Given the description of an element on the screen output the (x, y) to click on. 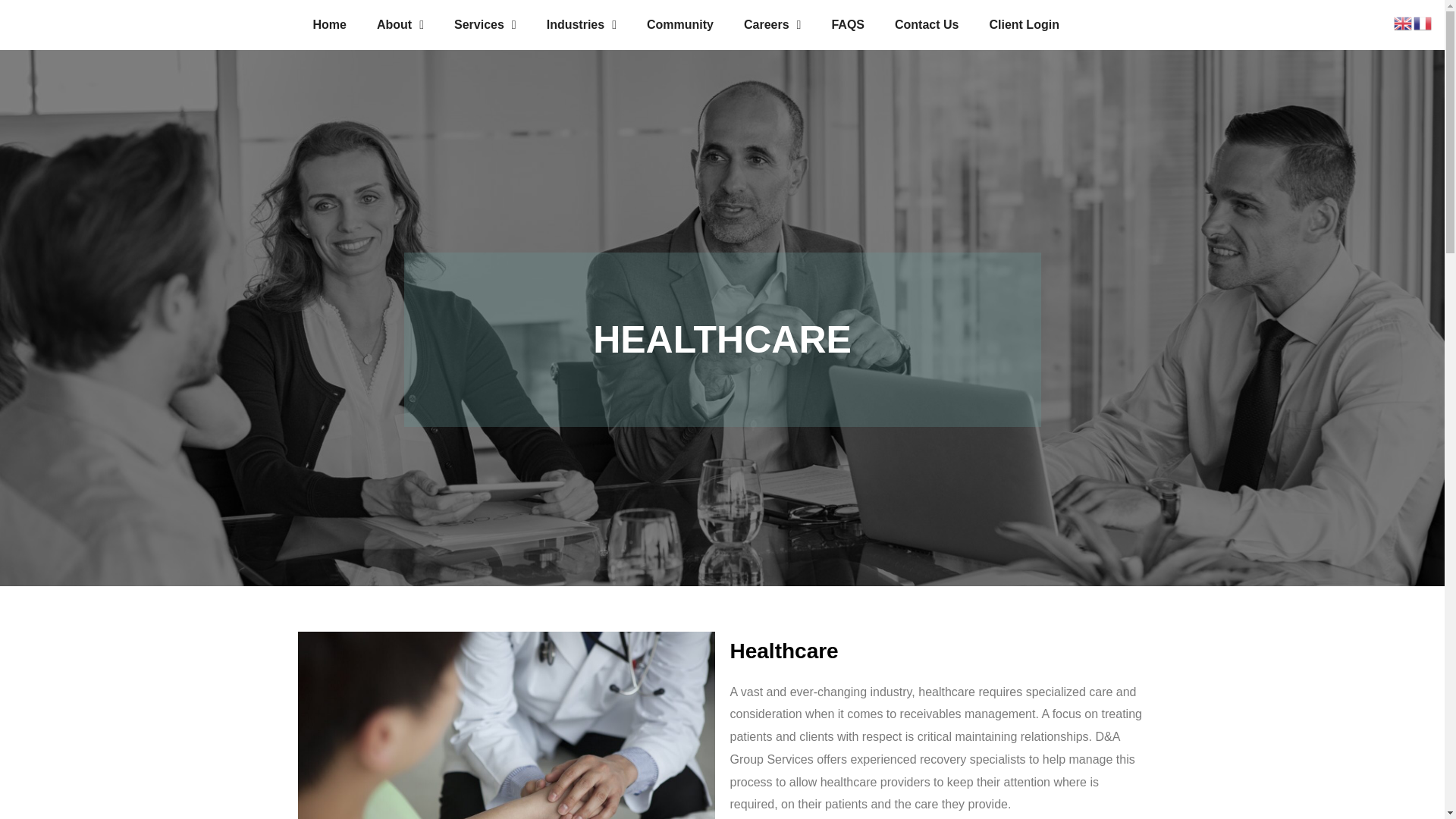
FAQS (847, 24)
French (1422, 21)
English (1403, 21)
Community (680, 24)
About (400, 24)
Industries (581, 24)
Client Login (1024, 24)
Home (329, 24)
Services (485, 24)
Contact Us (926, 24)
Careers (772, 24)
